Given the description of an element on the screen output the (x, y) to click on. 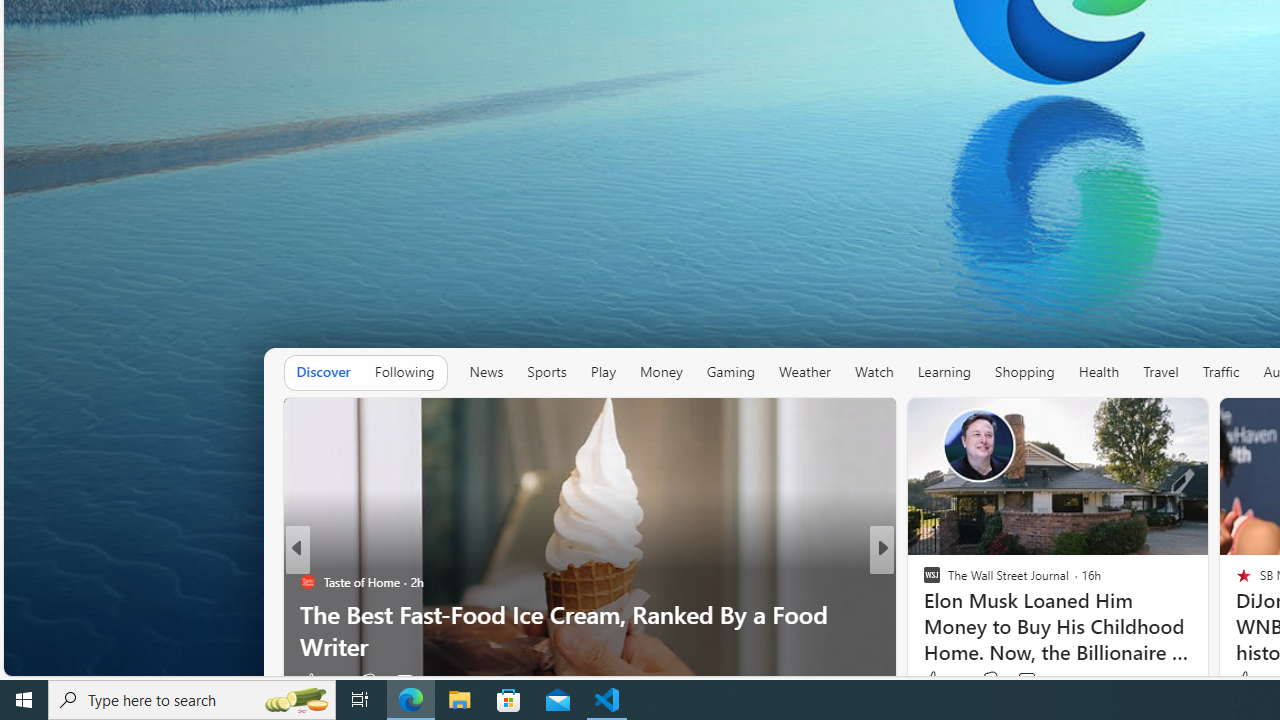
Health (1098, 372)
The Hill (923, 581)
347 Like (936, 681)
View comments 10 Comment (1022, 681)
View comments 13 Comment (1019, 681)
Travel (1160, 372)
97 Like (317, 681)
Weather (804, 371)
MarketWatch (923, 581)
View comments 247 Comment (1032, 681)
40 Like (934, 681)
Watch (874, 371)
View comments 247 Comment (1019, 681)
